Given the description of an element on the screen output the (x, y) to click on. 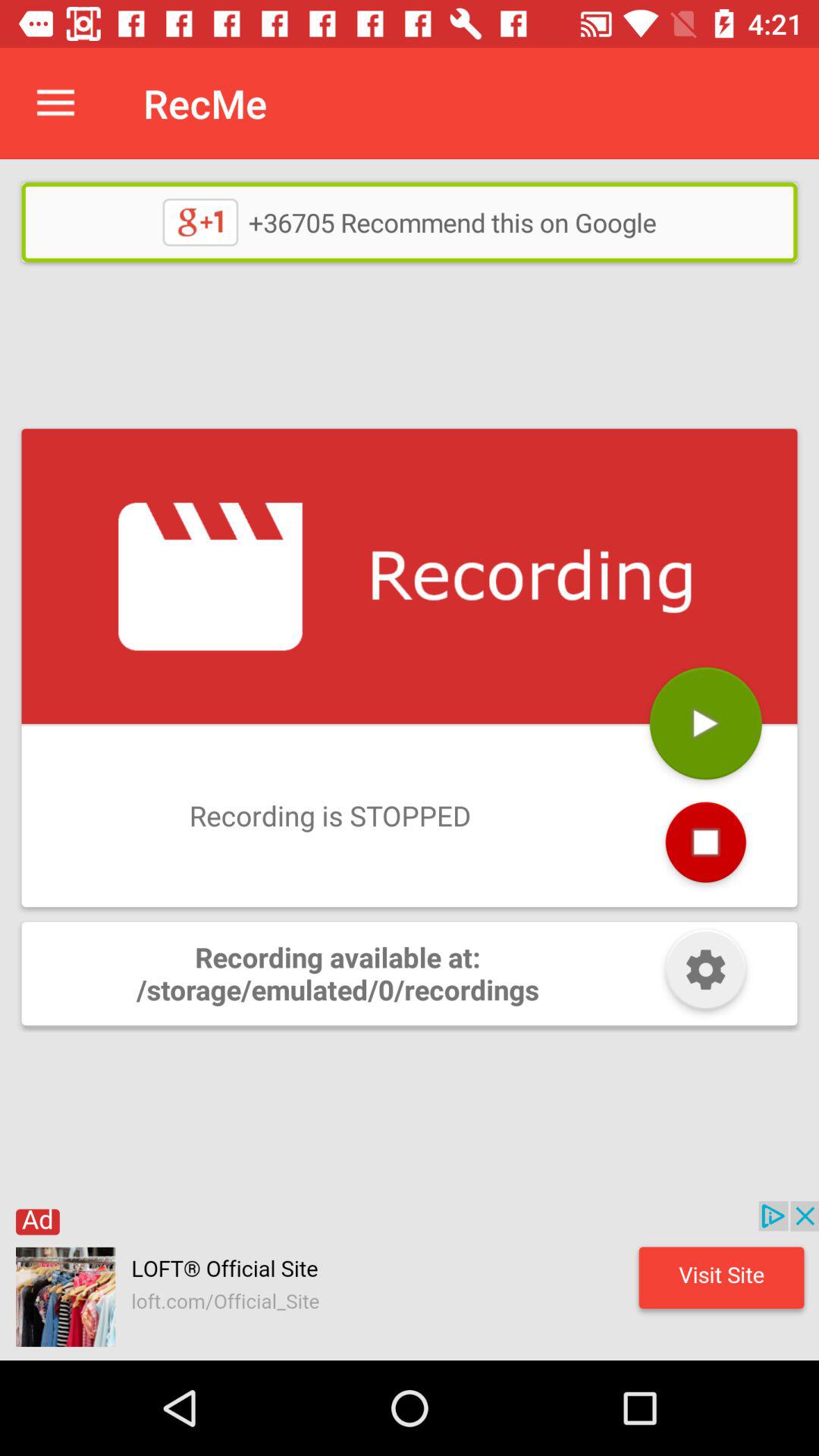
display settings (705, 973)
